Given the description of an element on the screen output the (x, y) to click on. 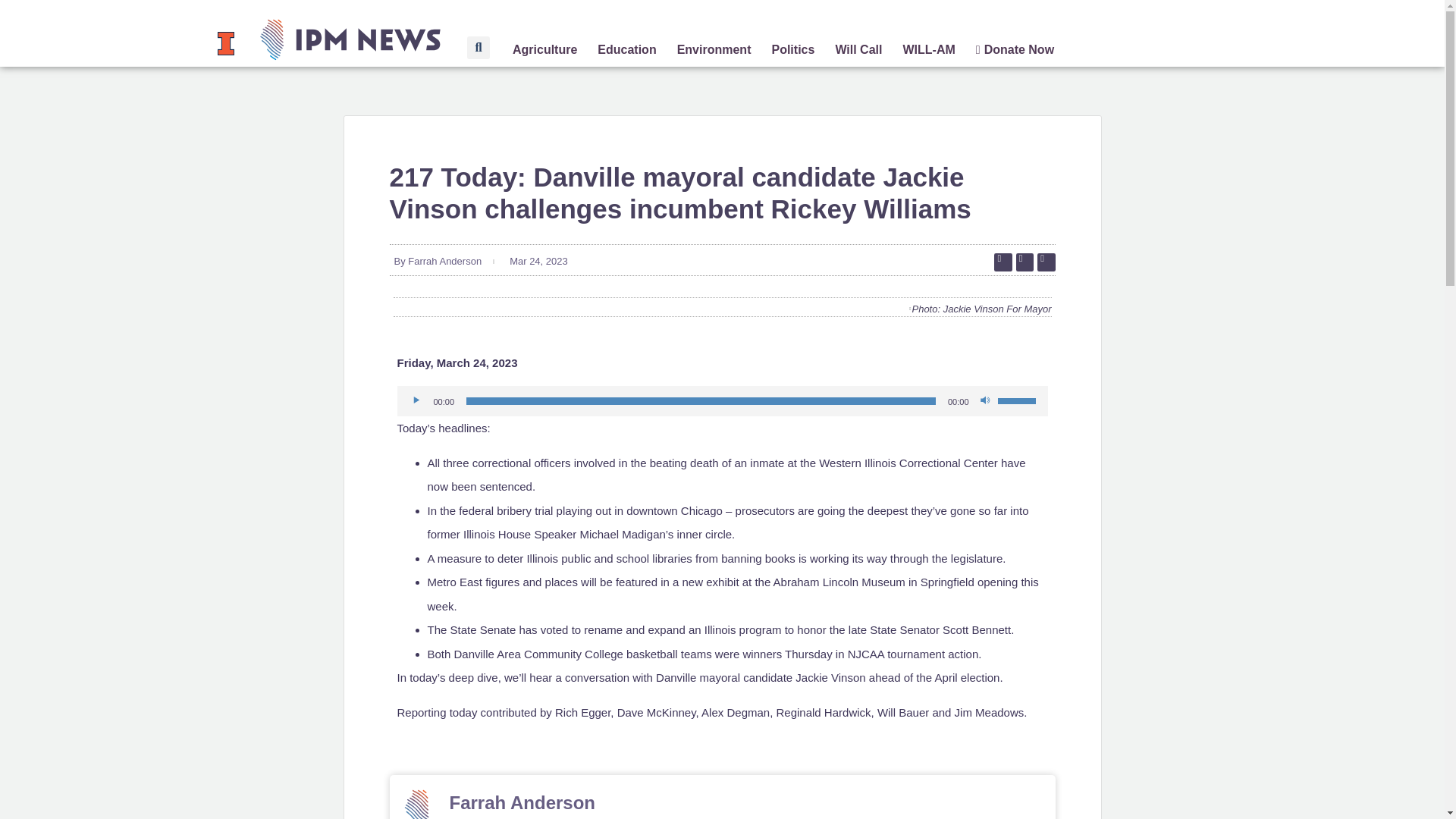
Education (626, 49)
WILL-AM (928, 49)
Donate Now (1014, 49)
Play (417, 400)
Environment (714, 49)
Will Call (858, 49)
Politics (792, 49)
Agriculture (544, 49)
Mar 24, 2023 (536, 261)
Mute (985, 400)
